Given the description of an element on the screen output the (x, y) to click on. 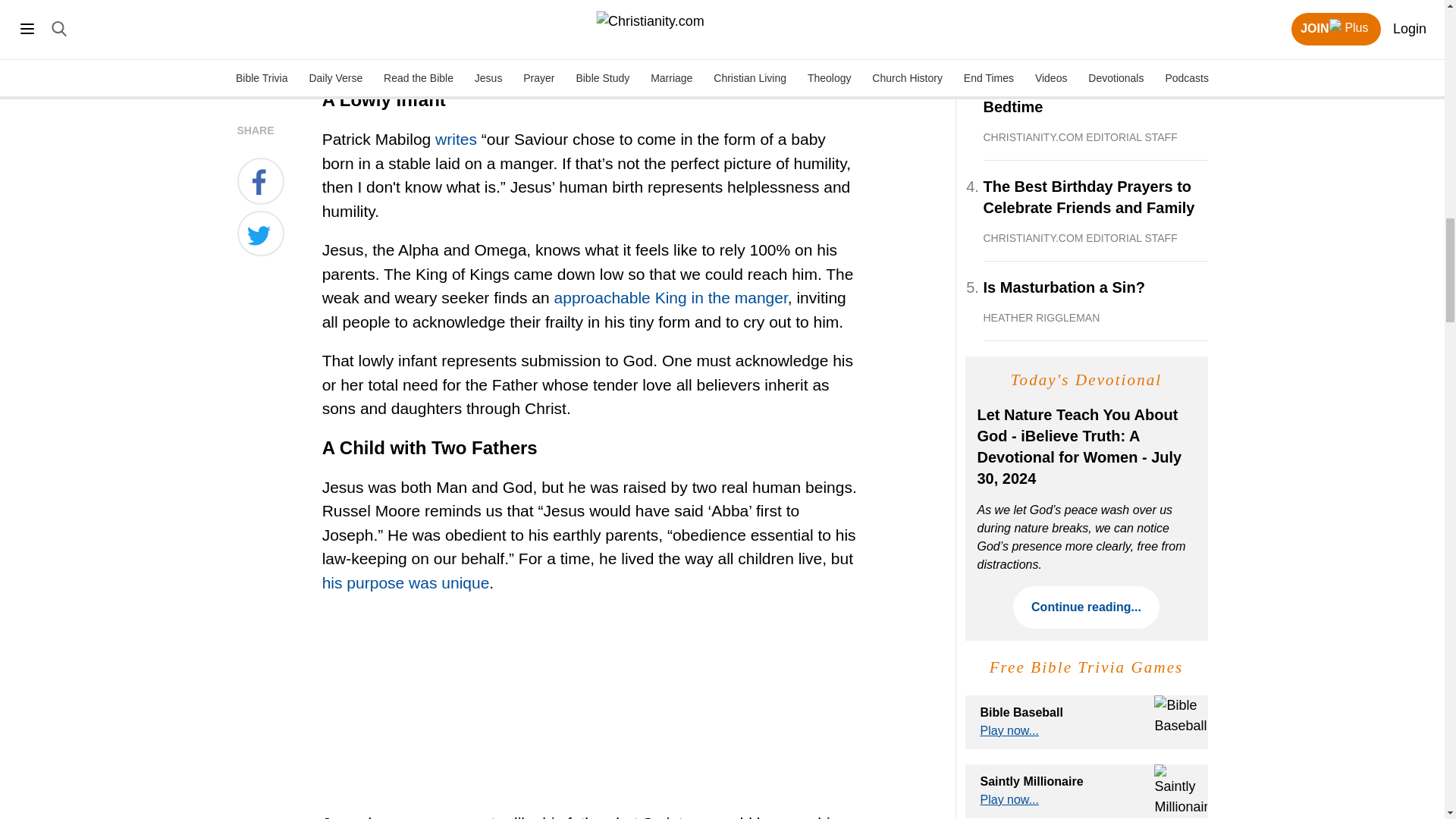
31 Night Prayers: Powerful to Pray Evening Rest and Bedtime (1094, 99)
Is Masturbation a Sin? (1094, 300)
Morning Prayers to Start Your Day with God (1094, 11)
